Given the description of an element on the screen output the (x, y) to click on. 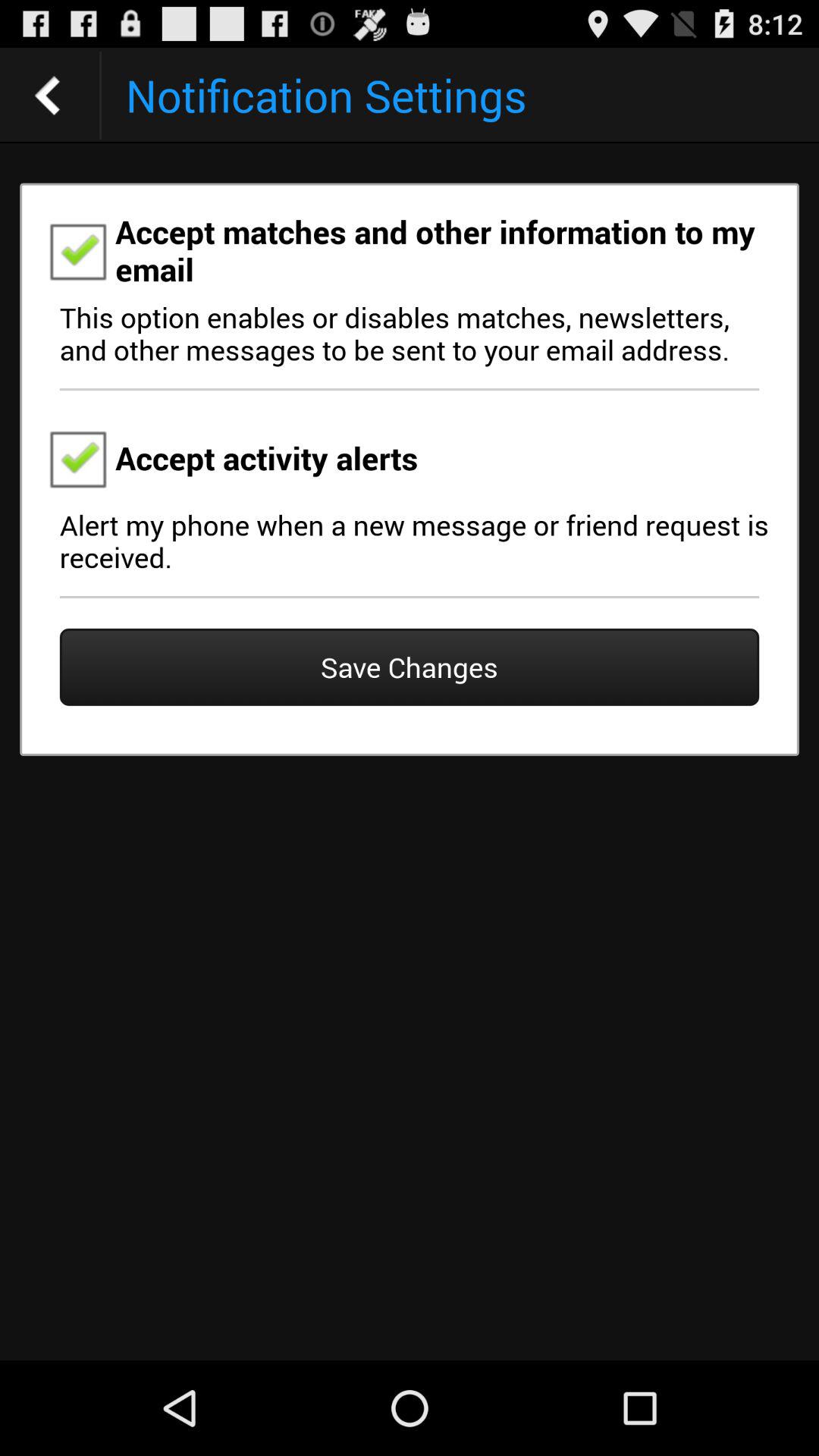
go back (47, 95)
